Given the description of an element on the screen output the (x, y) to click on. 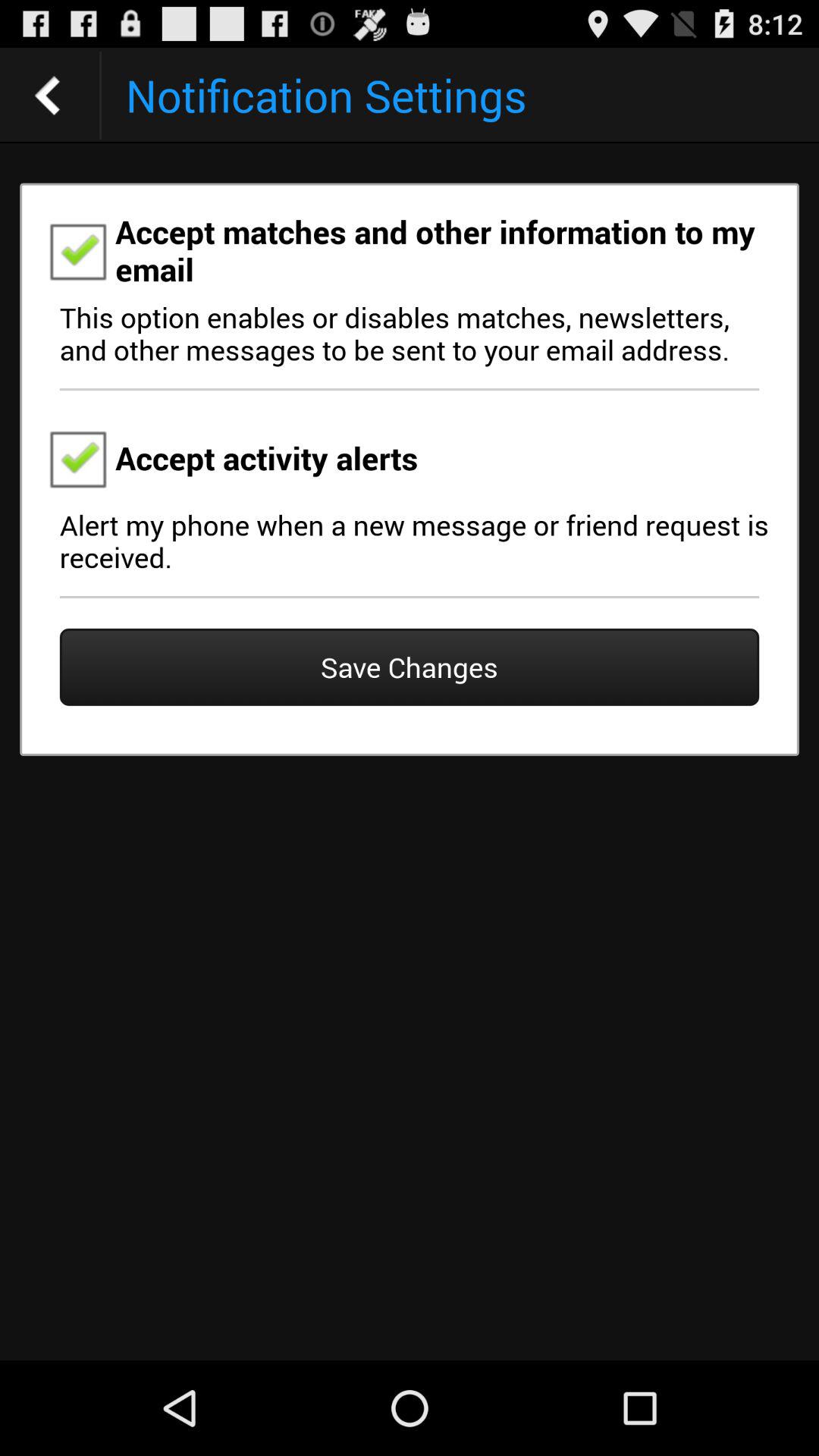
go back (47, 95)
